Given the description of an element on the screen output the (x, y) to click on. 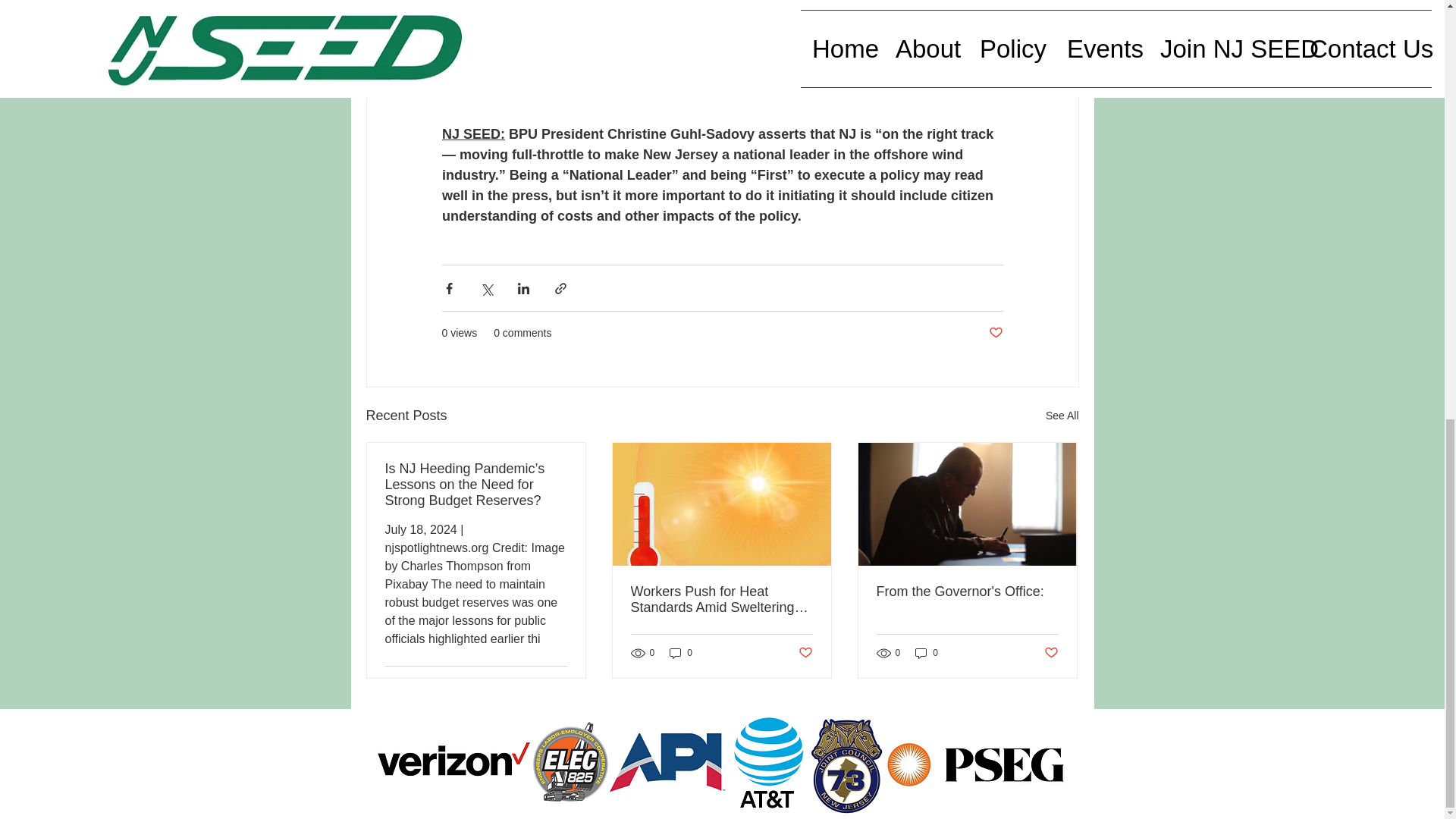
See All (1061, 415)
Workers Push for Heat Standards Amid Sweltering Summer (721, 599)
Post not marked as liked (558, 684)
Post not marked as liked (995, 333)
Post not marked as liked (804, 652)
From the Governor's Office: (967, 591)
Click Here (552, 92)
0 (926, 652)
0 (681, 652)
